Given the description of an element on the screen output the (x, y) to click on. 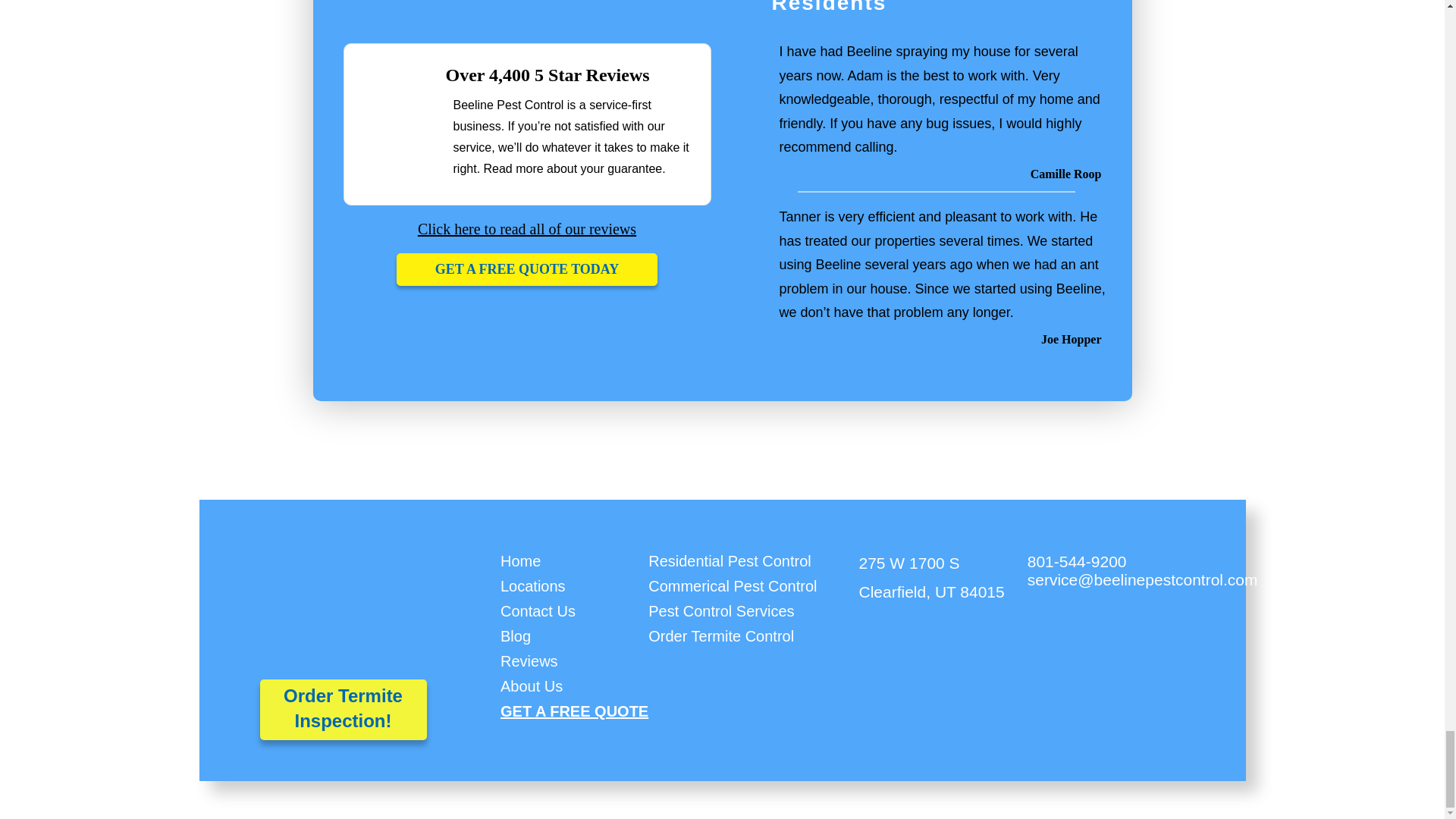
Residential Pest Control (728, 561)
801-544-9200 (1076, 561)
Click here to read all of our reviews (526, 229)
GET A FREE QUOTE TODAY (527, 269)
Commerical Pest Control (731, 586)
Locations (533, 586)
GET A FREE QUOTE (573, 711)
Order Termite Inspection! (342, 708)
Home (520, 561)
About Us (531, 686)
Contact Us (537, 610)
Pest Control Services (720, 610)
Blog (515, 636)
Order Termite Control (720, 636)
Reviews (528, 661)
